Given the description of an element on the screen output the (x, y) to click on. 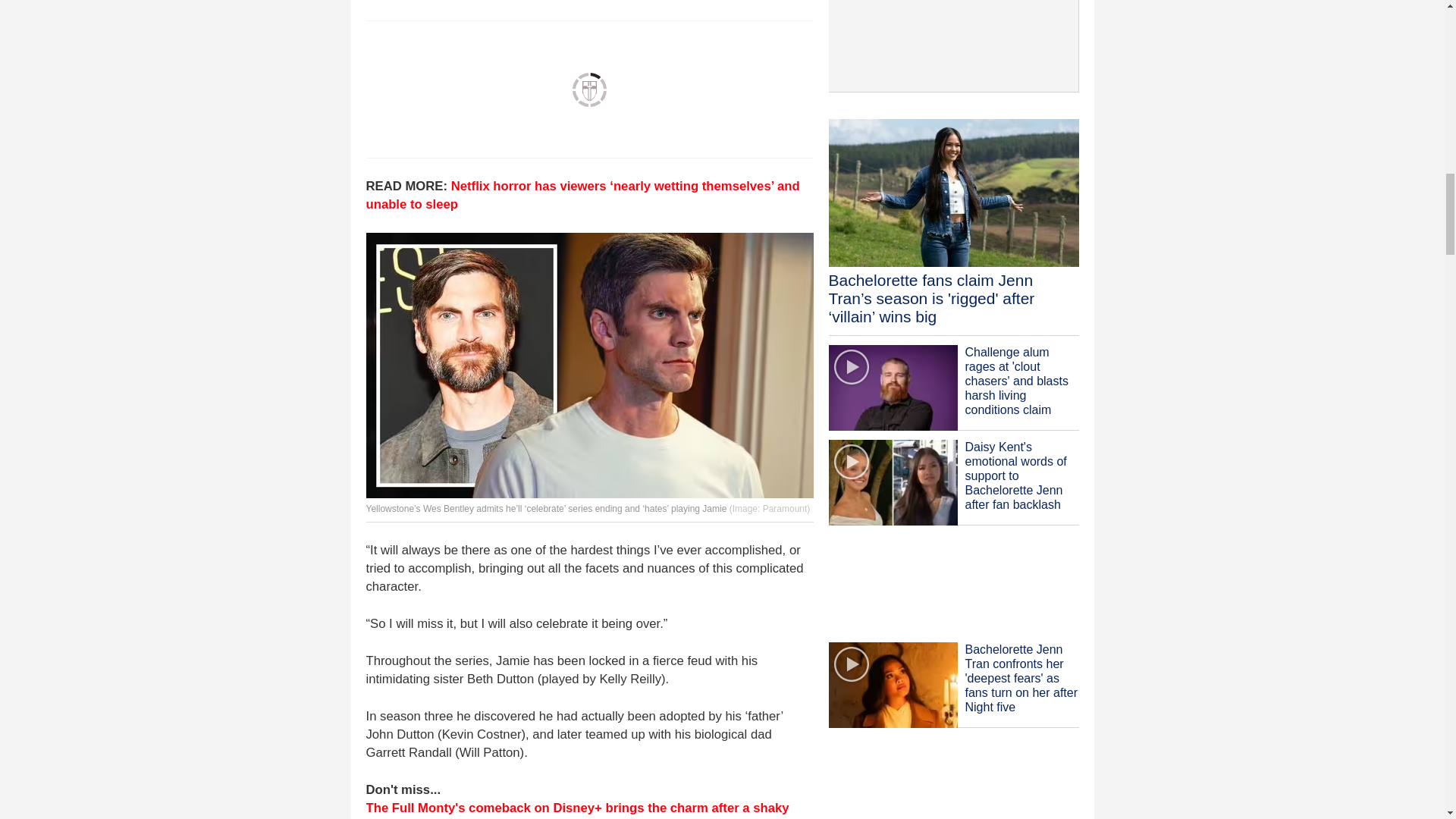
bachelorette fan jenn tran rigged villain devin strader (953, 192)
Wes Bentley as Jamie Dutton (588, 364)
Daisy Kents support Bachelorette Jenn fan backlash (892, 482)
the Challenge wes bergmann conditions claims (892, 387)
